Given the description of an element on the screen output the (x, y) to click on. 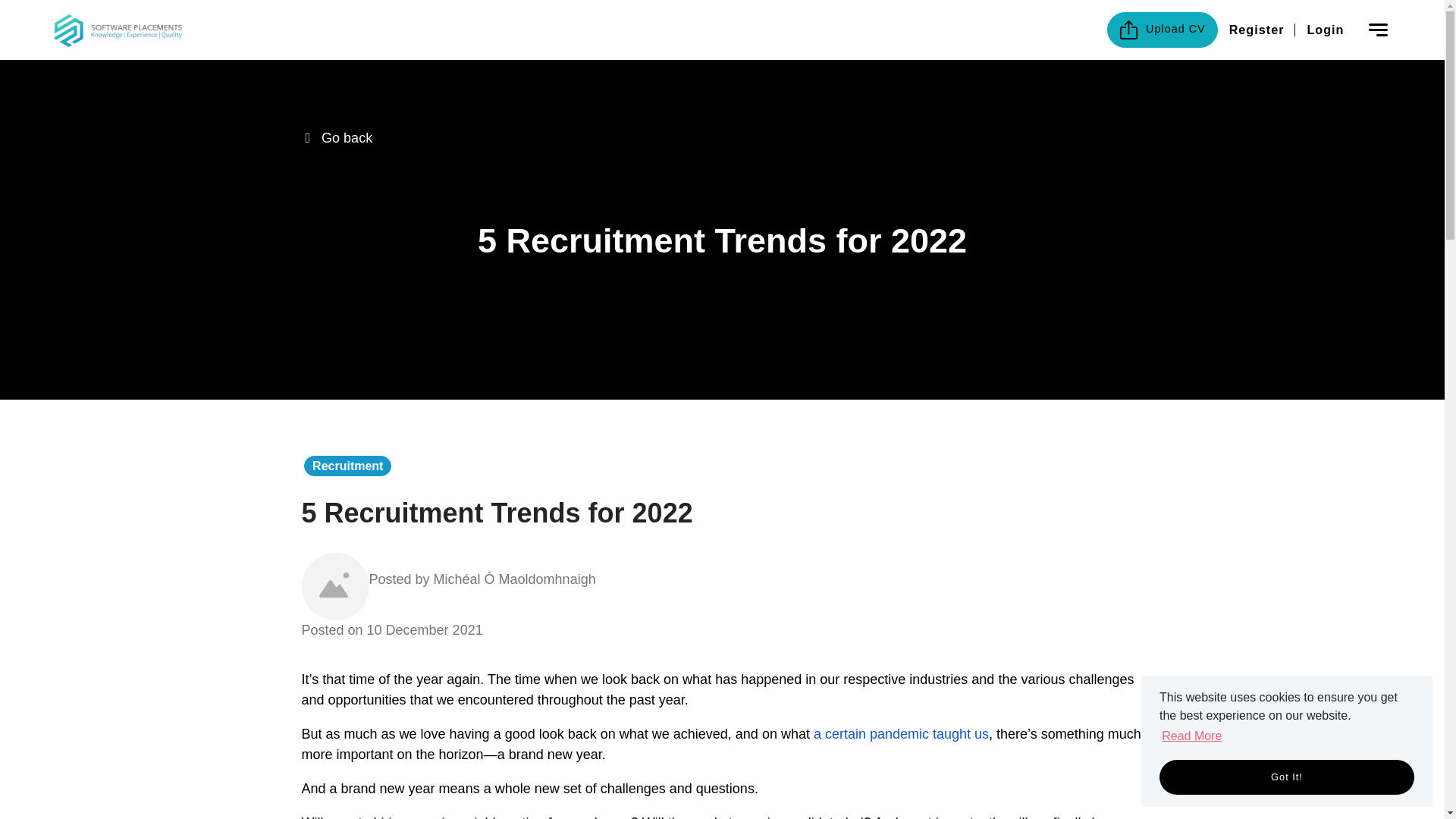
a certain pandemic taught us (900, 734)
Upload CV (1161, 29)
Register (1256, 29)
Go back (346, 137)
Read More (1191, 735)
Recruitment (347, 465)
Got It! (1190, 777)
Login (1325, 29)
